Given the description of an element on the screen output the (x, y) to click on. 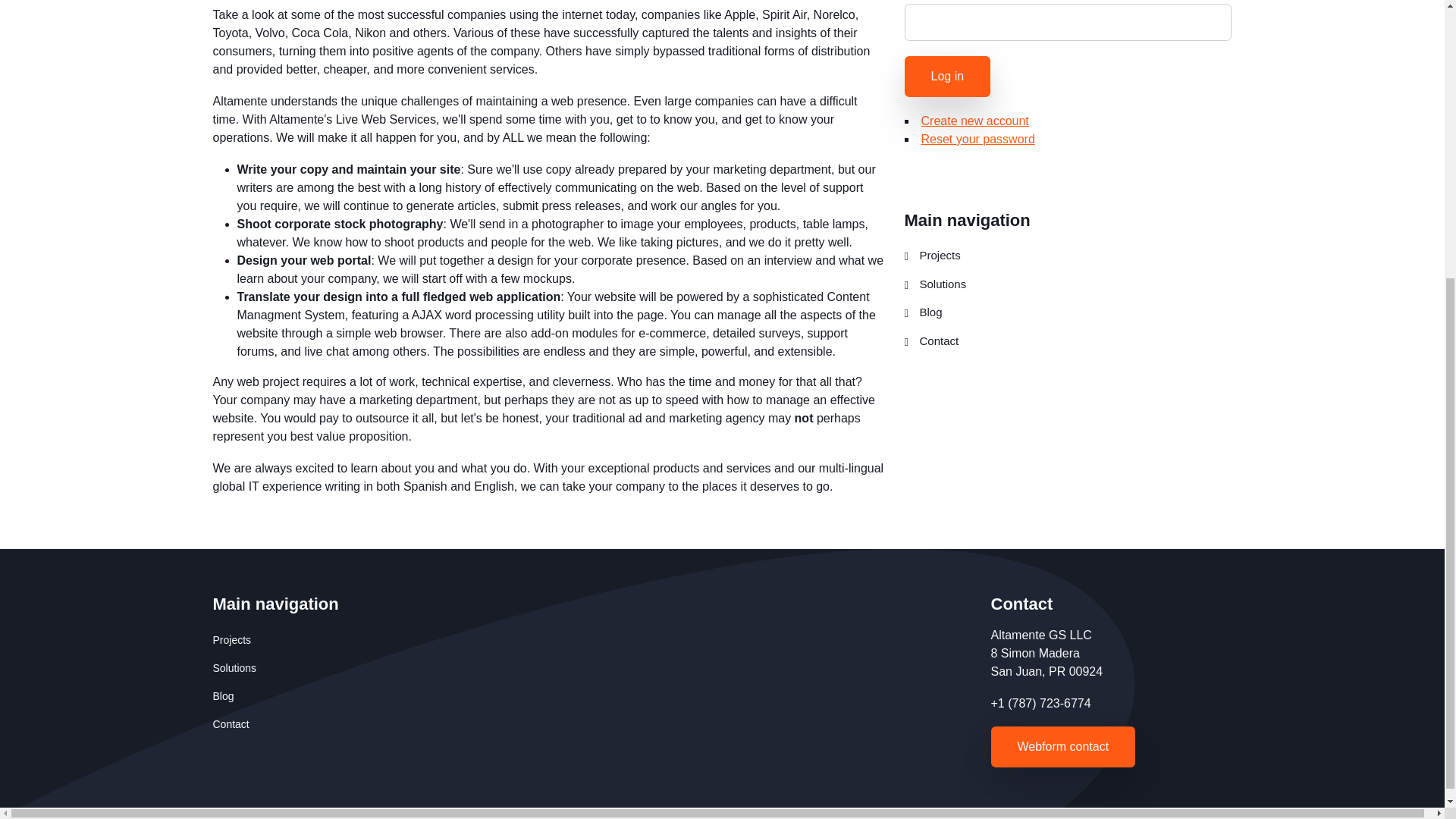
Webform contact (1062, 746)
Projects (1067, 256)
Blog (1067, 312)
Send password reset instructions via email. (976, 138)
Solutions (1067, 285)
Blog (592, 696)
Contact (592, 724)
Projects (592, 640)
Contact (1067, 341)
Log in (947, 76)
Reset your password (976, 138)
Solutions (592, 668)
Create a new user account. (973, 120)
Log in (947, 76)
Create new account (973, 120)
